Given the description of an element on the screen output the (x, y) to click on. 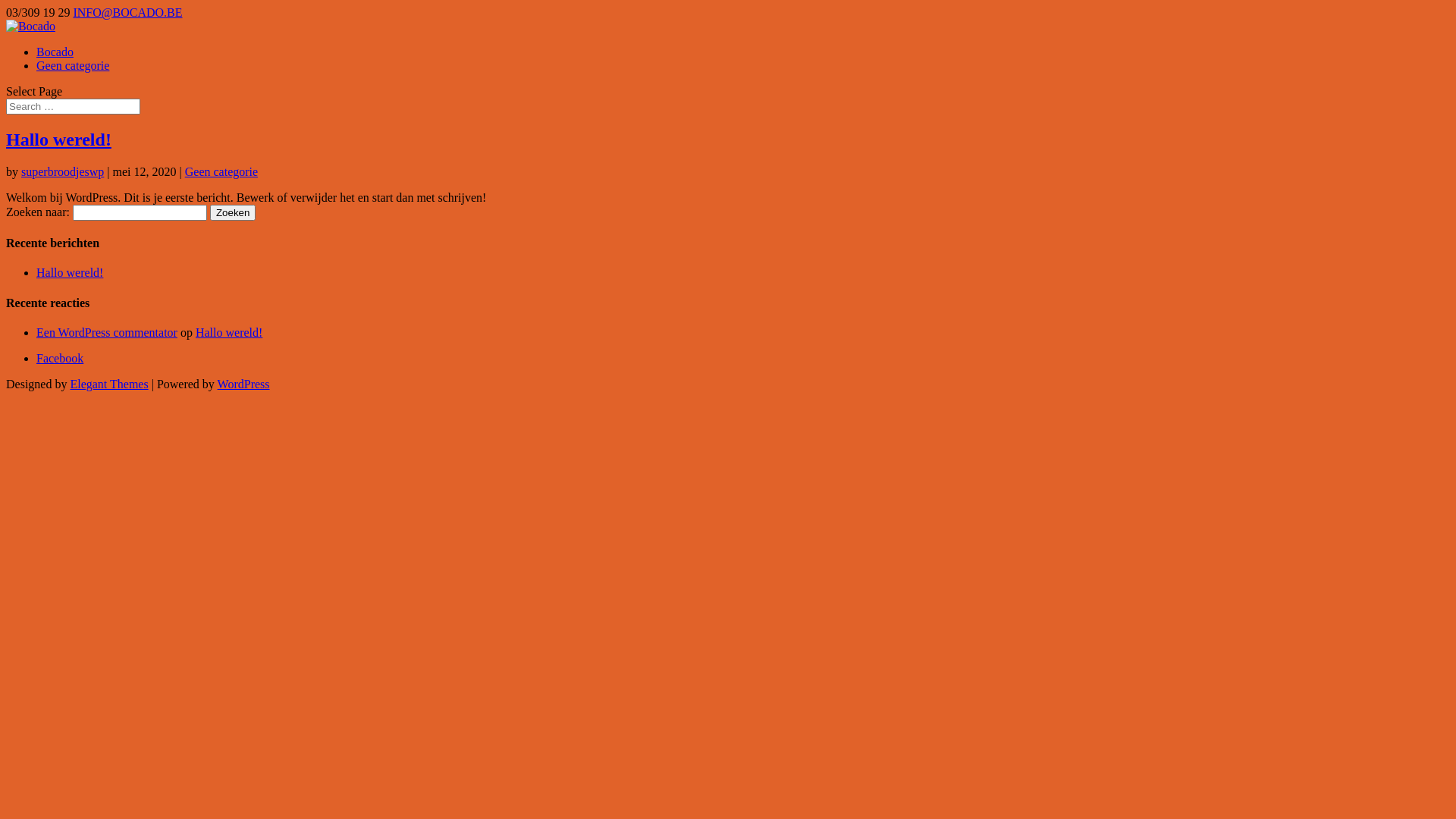
Elegant Themes Element type: text (108, 383)
Geen categorie Element type: text (72, 65)
Hallo wereld! Element type: text (228, 332)
WordPress Element type: text (243, 383)
Een WordPress commentator Element type: text (106, 332)
superbroodjeswp Element type: text (62, 171)
Search for: Element type: hover (73, 106)
Hallo wereld! Element type: text (58, 139)
Bocado Element type: text (54, 51)
Hallo wereld! Element type: text (69, 272)
Zoeken Element type: text (232, 212)
Geen categorie Element type: text (221, 171)
INFO@BOCADO.BE Element type: text (127, 12)
Facebook Element type: text (59, 357)
